Given the description of an element on the screen output the (x, y) to click on. 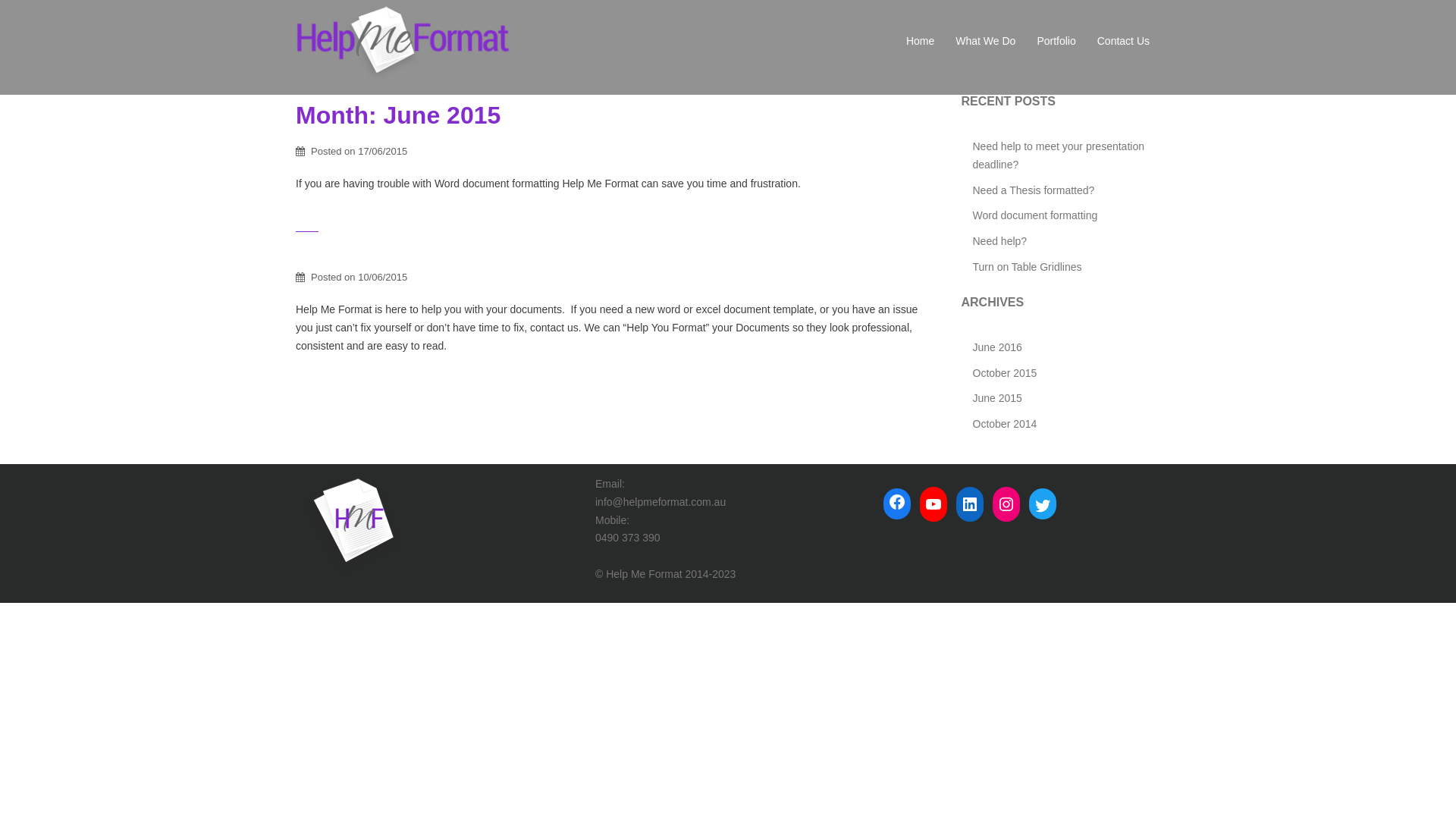
June 2015 Element type: text (996, 398)
LinkedIn Element type: text (969, 503)
Instagram Element type: text (1005, 503)
Home Element type: text (920, 41)
17/06/2015 Element type: text (382, 150)
YouTube Element type: text (933, 503)
info@helpmeformat.com.au Element type: text (660, 501)
June 2016 Element type: text (996, 347)
Help Me Format Element type: hover (403, 40)
Twitter Element type: text (1042, 505)
Turn on Table Gridlines Element type: text (1026, 266)
10/06/2015 Element type: text (382, 276)
Need help to meet your presentation deadline? Element type: text (1057, 155)
Contact Us Element type: text (1123, 41)
October 2015 Element type: text (1004, 373)
October 2014 Element type: text (1004, 423)
Word document formatting Element type: text (1034, 215)
What We Do Element type: text (985, 41)
Portfolio Element type: text (1055, 41)
Need a Thesis formatted? Element type: text (1033, 190)
Facebook Element type: text (896, 501)
Need help? Element type: text (999, 241)
